Given the description of an element on the screen output the (x, y) to click on. 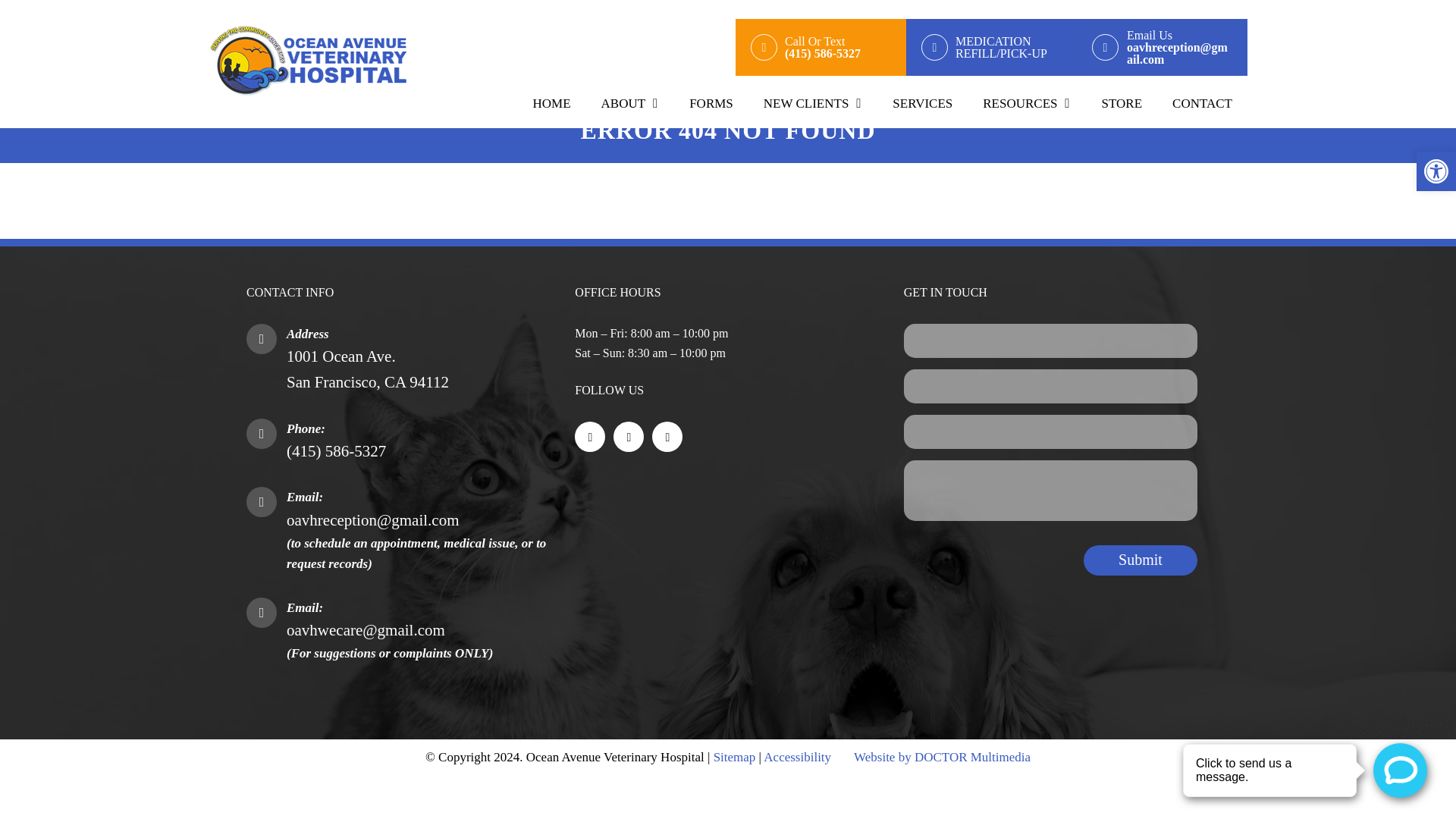
CONTACT (1202, 103)
SERVICES (922, 103)
Submit (1139, 560)
Website by DOCTOR Multimedia (367, 369)
NEW CLIENTS (941, 757)
Accessibility (812, 103)
Sitemap (796, 757)
RESOURCES (734, 757)
FORMS (1027, 103)
STORE (711, 103)
Accessibility Tools (1121, 103)
HOME (1435, 170)
Submit (552, 103)
ABOUT (1139, 560)
